Given the description of an element on the screen output the (x, y) to click on. 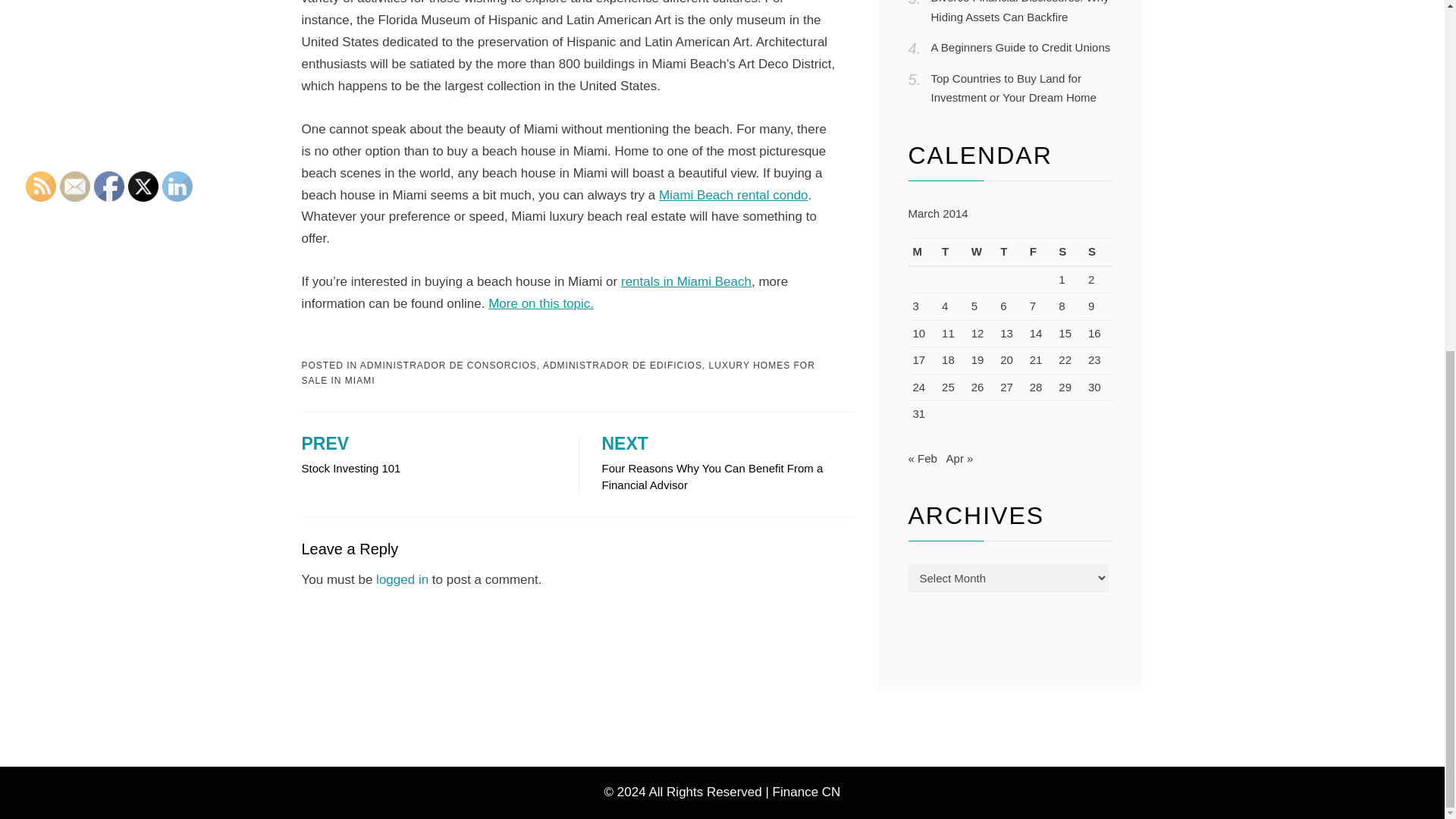
Friday (1039, 252)
25 (948, 386)
Miami Beach rental condo (733, 195)
Tuesday (428, 455)
Thursday (951, 252)
More on this topic. (1010, 252)
Top Countries to Buy Land for Investment or Your Dream Home (540, 303)
Coral gables fl real estate (1013, 88)
Wednesday (733, 195)
